Given the description of an element on the screen output the (x, y) to click on. 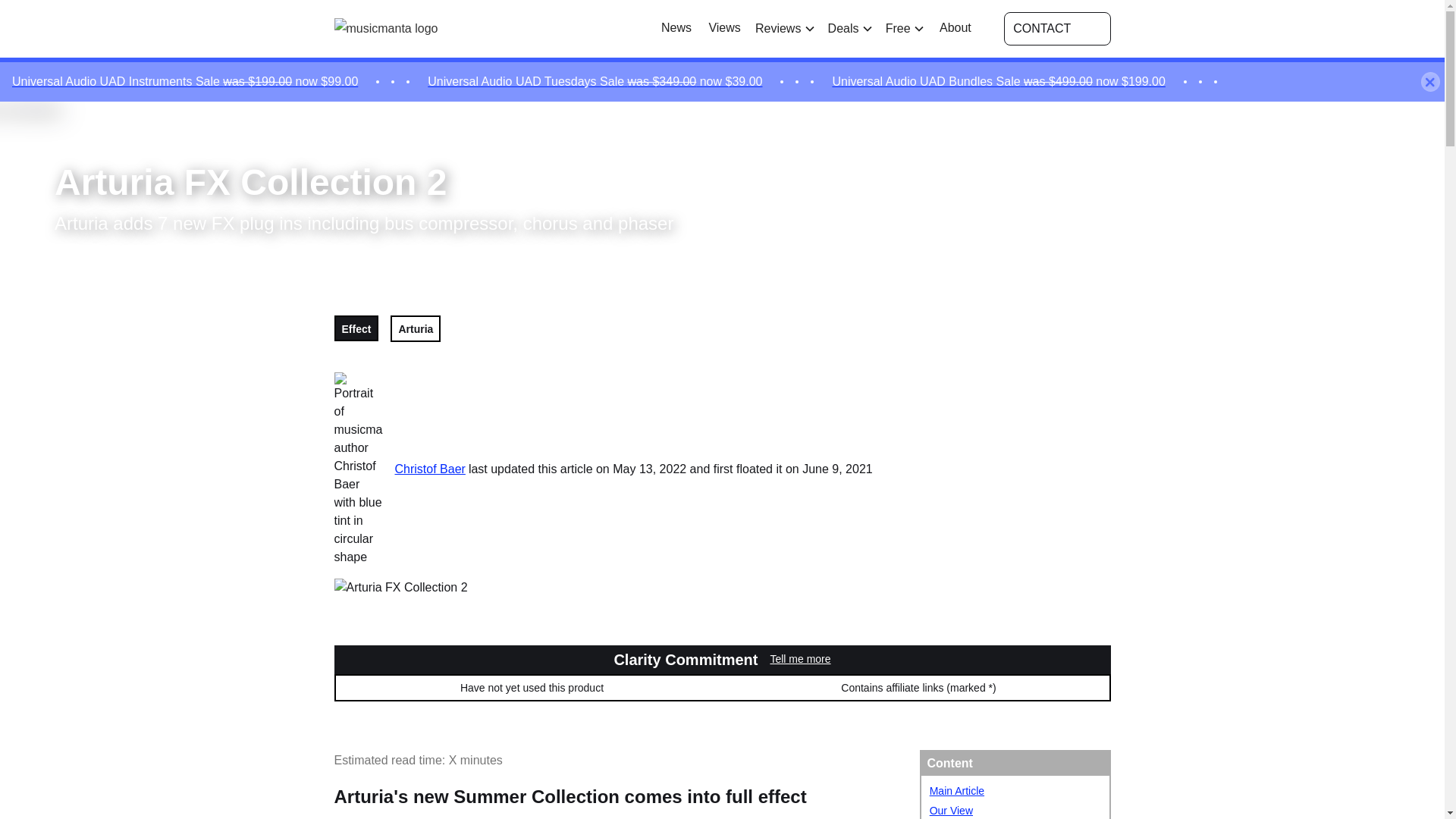
News (676, 28)
About (955, 28)
Christof Baer (424, 468)
Tell me more (799, 659)
Views (724, 28)
CONTACT (1057, 28)
